Given the description of an element on the screen output the (x, y) to click on. 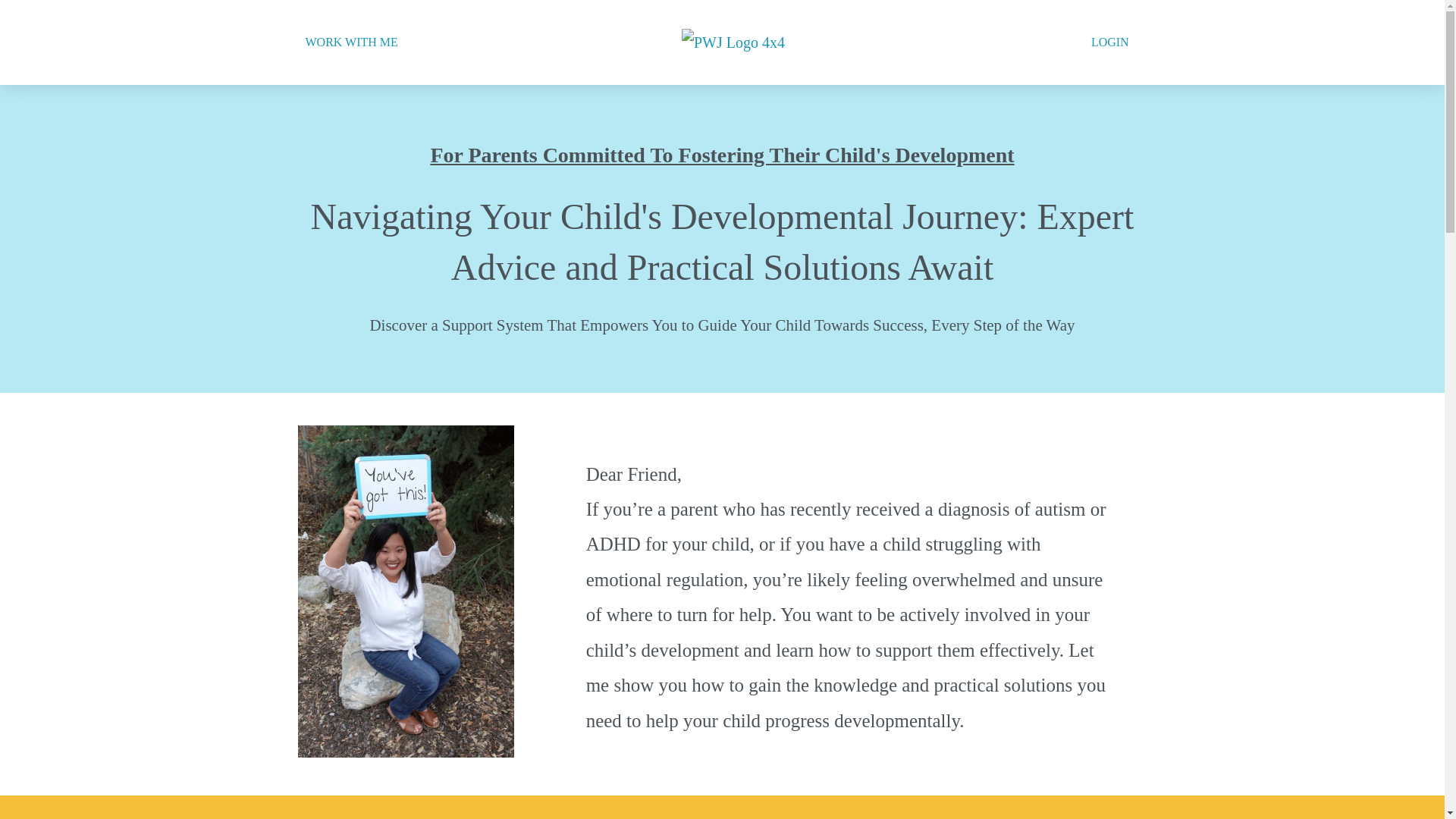
WORK WITH ME (350, 41)
LOGIN (1109, 42)
